Given the description of an element on the screen output the (x, y) to click on. 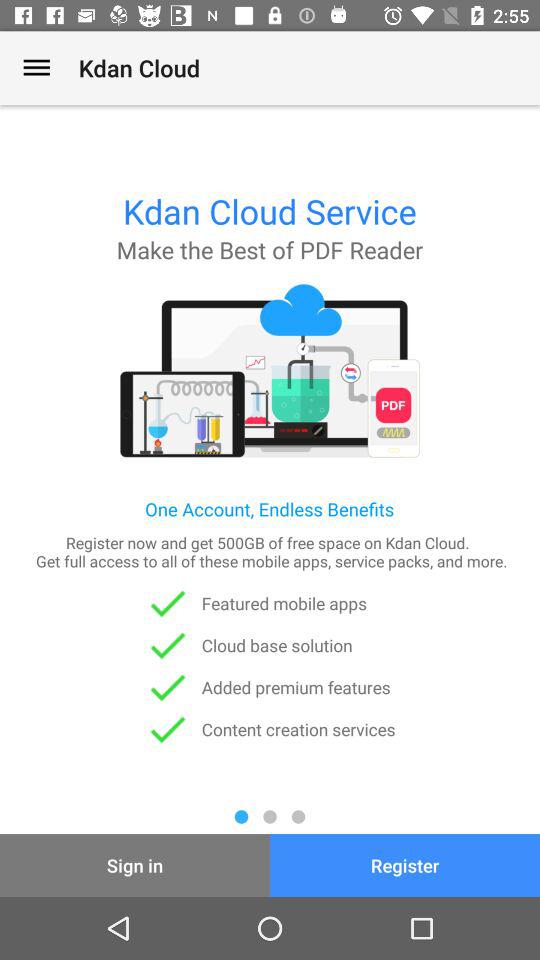
tap the item next to kdan cloud item (36, 68)
